Given the description of an element on the screen output the (x, y) to click on. 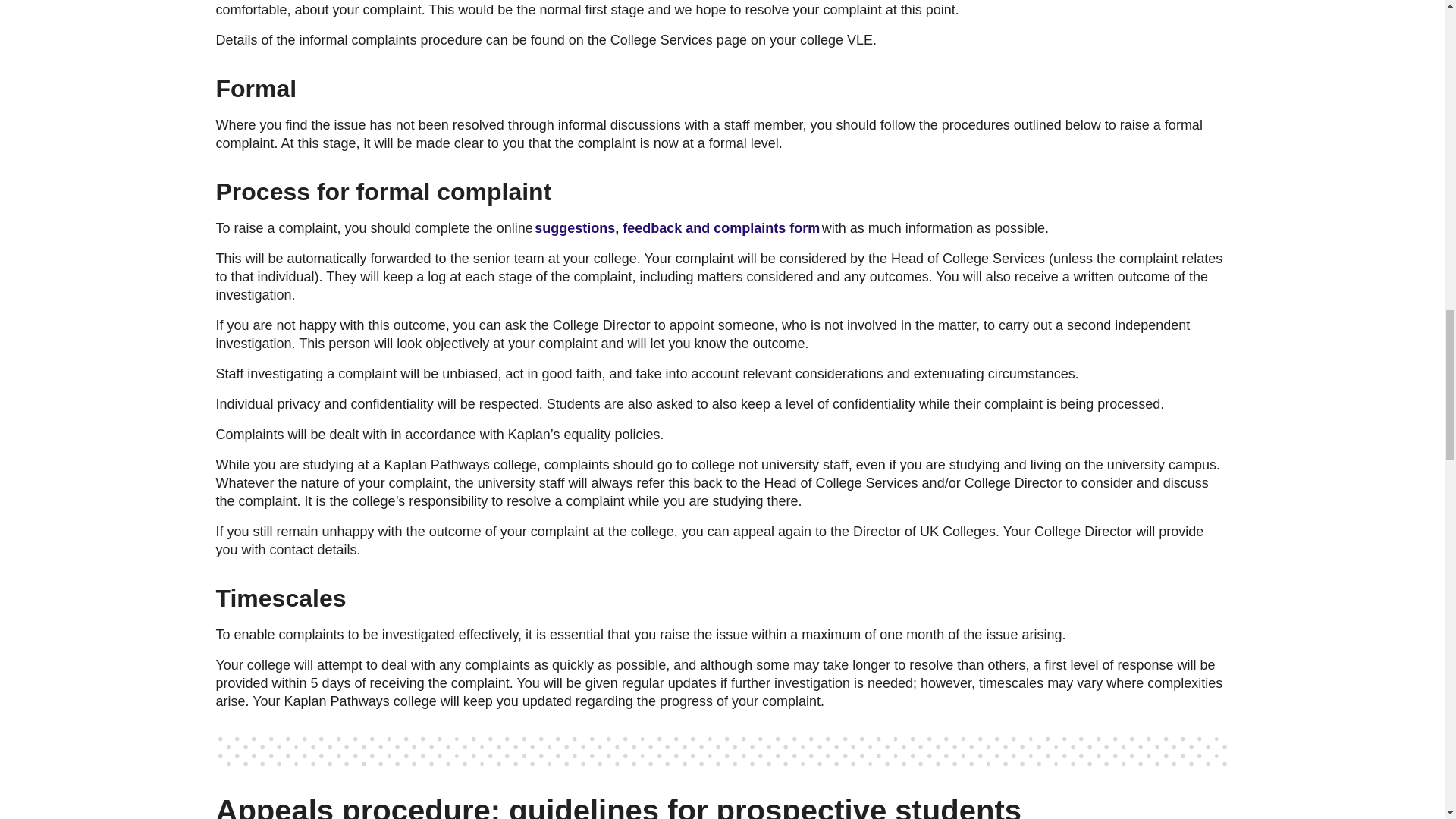
suggestions, feedback and complaints form (676, 227)
